Given the description of an element on the screen output the (x, y) to click on. 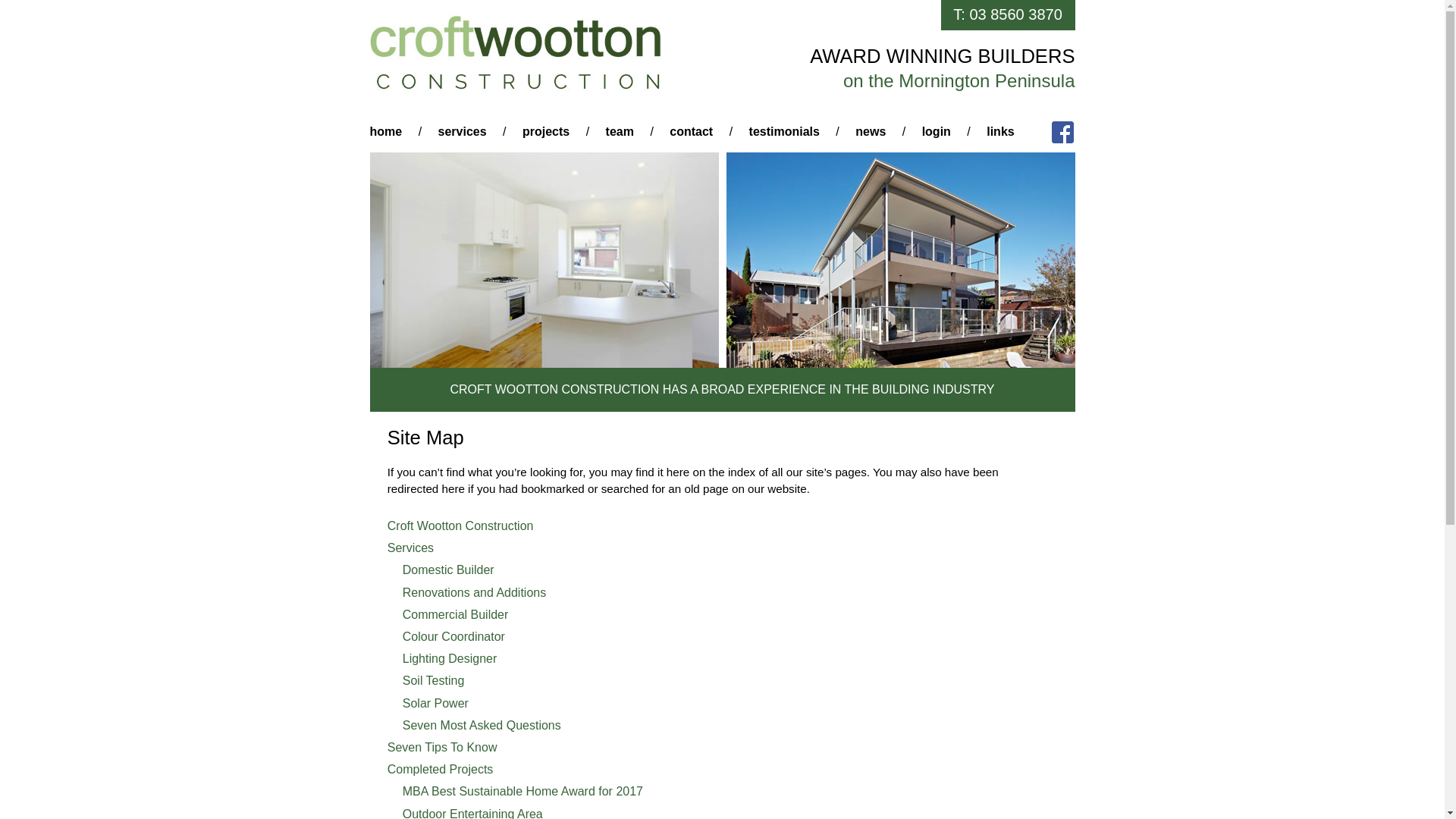
home Element type: text (386, 131)
login Element type: text (936, 131)
testimonials Element type: text (784, 131)
Domestic Builder Element type: text (448, 569)
news Element type: text (870, 131)
Commercial Builder Element type: text (455, 614)
contact Element type: text (690, 131)
team Element type: text (619, 131)
Seven Most Asked Questions Element type: text (481, 724)
services Element type: text (462, 131)
Lighting Designer Element type: text (449, 658)
projects Element type: text (545, 131)
Solar Power Element type: text (435, 702)
Renovations and Additions Element type: text (474, 592)
links Element type: text (999, 131)
Services Element type: text (410, 547)
Seven Tips To Know Element type: text (442, 746)
MBA Best Sustainable Home Award for 2017 Element type: text (522, 790)
Soil Testing Element type: text (433, 680)
Croft Wootton Construction Element type: text (460, 525)
Colour Coordinator Element type: text (453, 636)
Completed Projects Element type: text (440, 768)
